Given the description of an element on the screen output the (x, y) to click on. 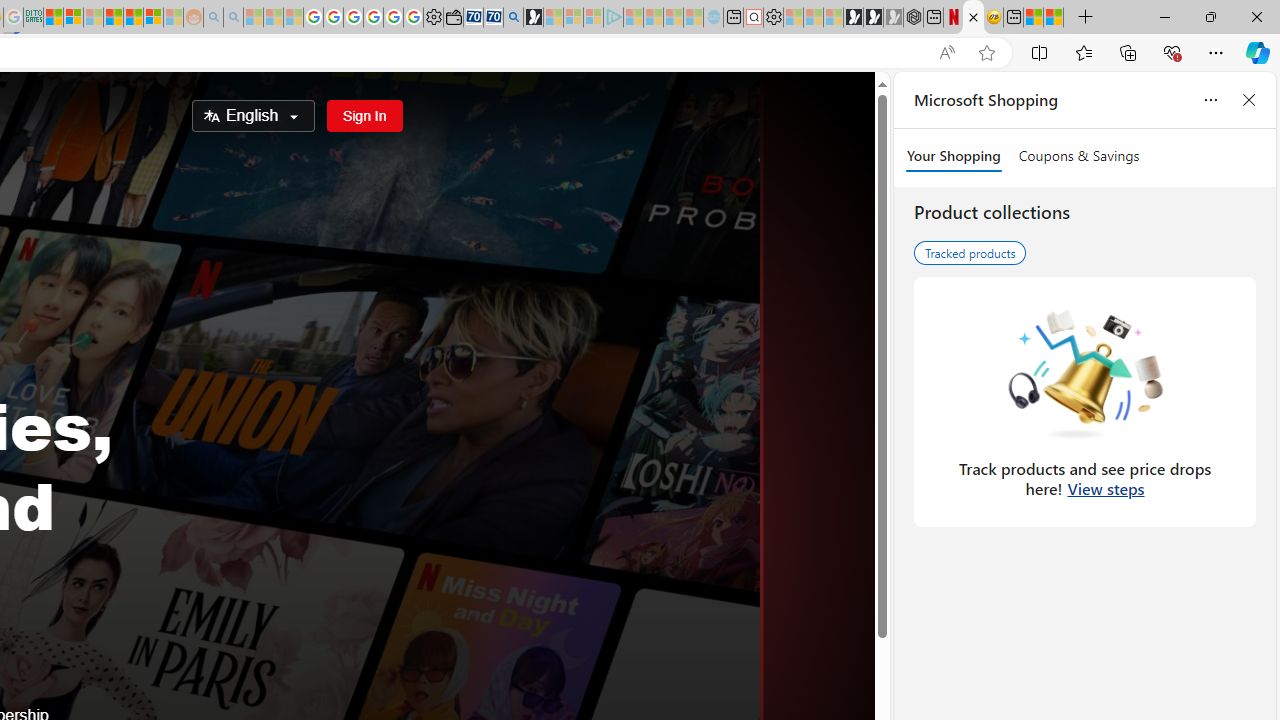
Expert Portfolios (112, 17)
